Given the description of an element on the screen output the (x, y) to click on. 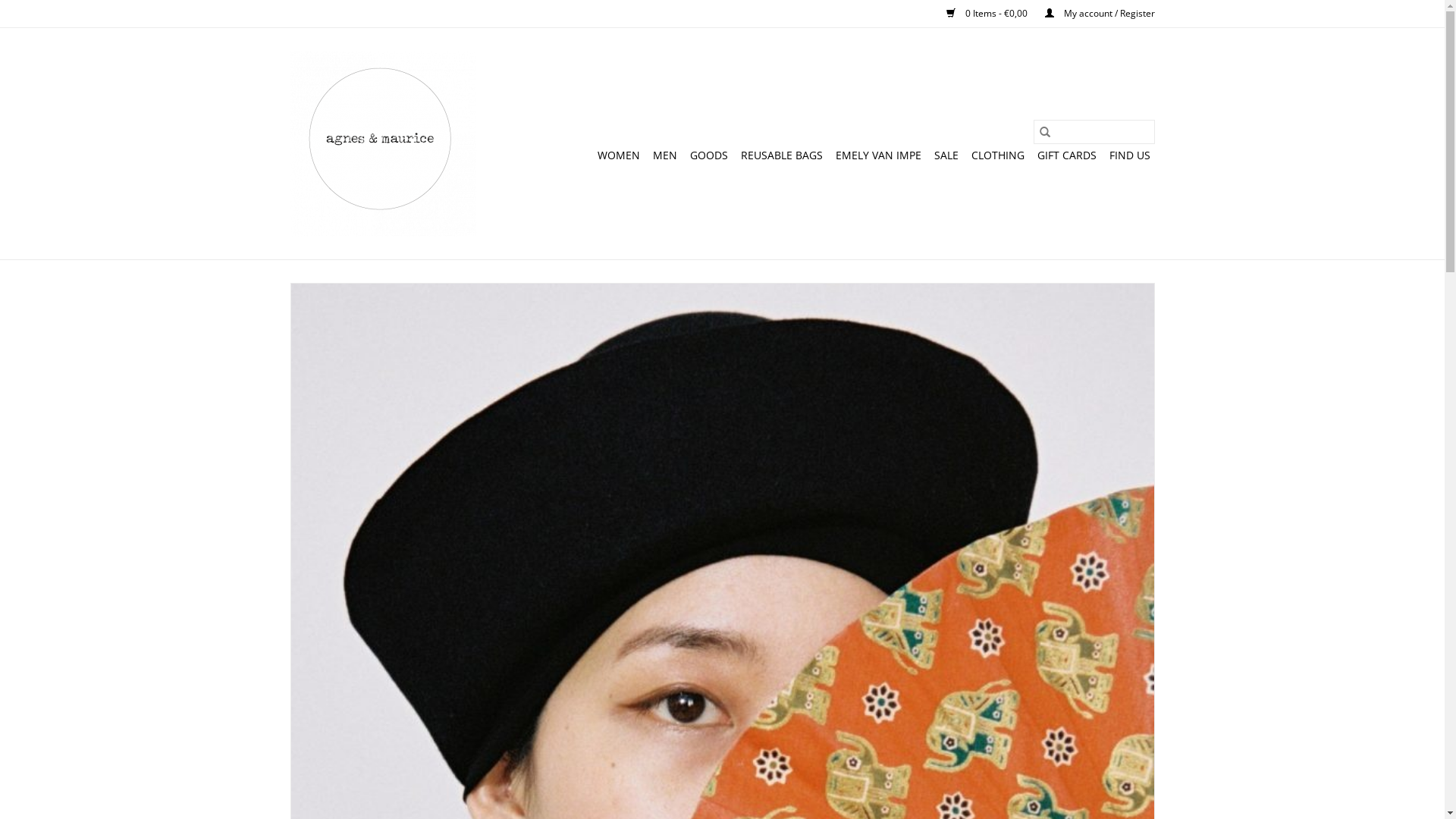
My account / Register Element type: text (1091, 12)
MEN Element type: text (663, 155)
GIFT CARDS Element type: text (1066, 155)
SALE Element type: text (946, 155)
GOODS Element type: text (708, 155)
CLOTHING Element type: text (997, 155)
Search Element type: hover (1043, 131)
HOME Element type: text (567, 155)
Agnes & Maurice Element type: hover (382, 143)
REUSABLE BAGS Element type: text (780, 155)
WOMEN Element type: text (618, 155)
EMELY VAN IMPE Element type: text (878, 155)
FIND US Element type: text (1129, 155)
